Given the description of an element on the screen output the (x, y) to click on. 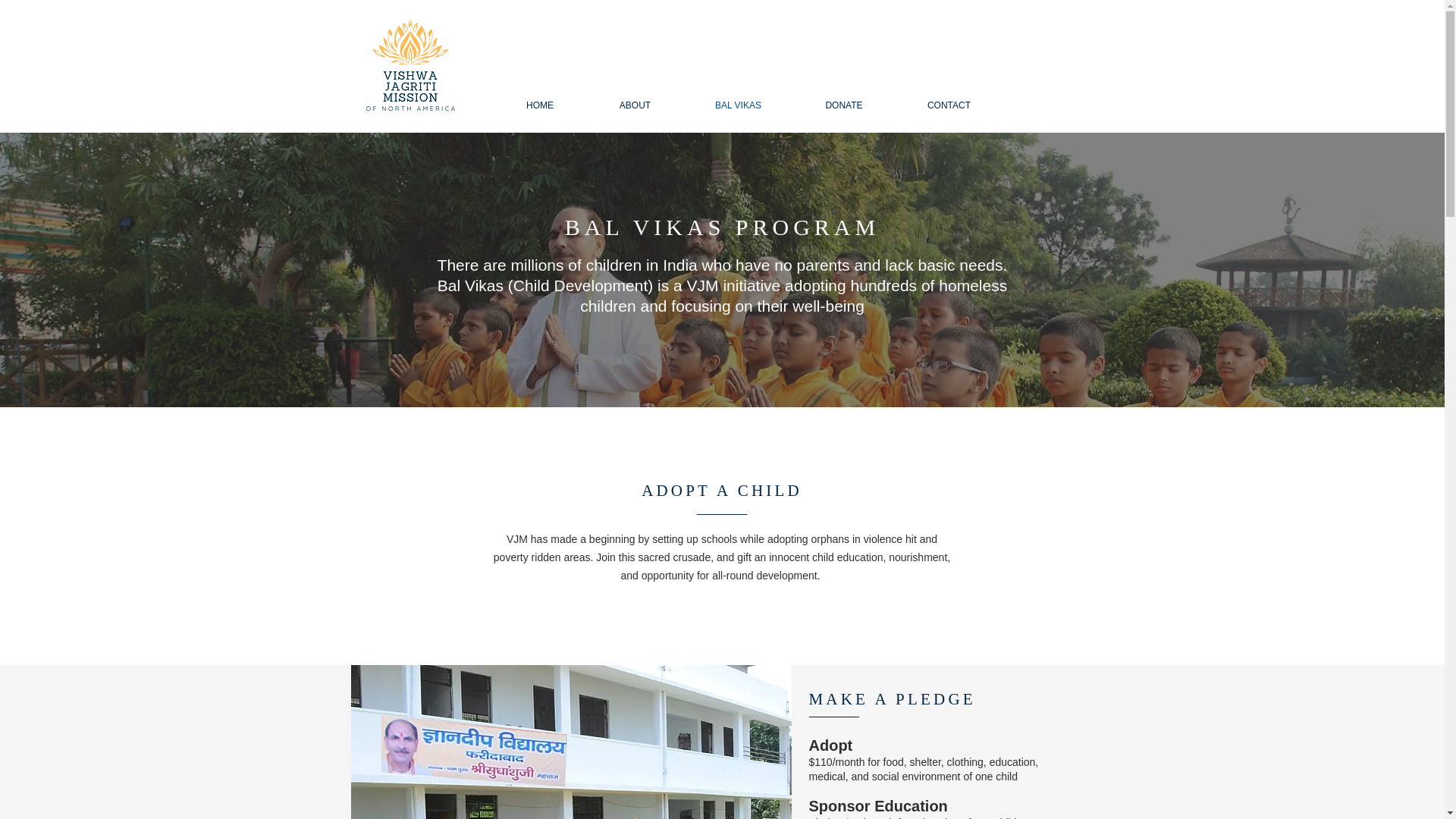
CONTACT (949, 105)
HOME (539, 105)
DONATE (844, 105)
ABOUT (635, 105)
BAL VIKAS (738, 105)
